Given the description of an element on the screen output the (x, y) to click on. 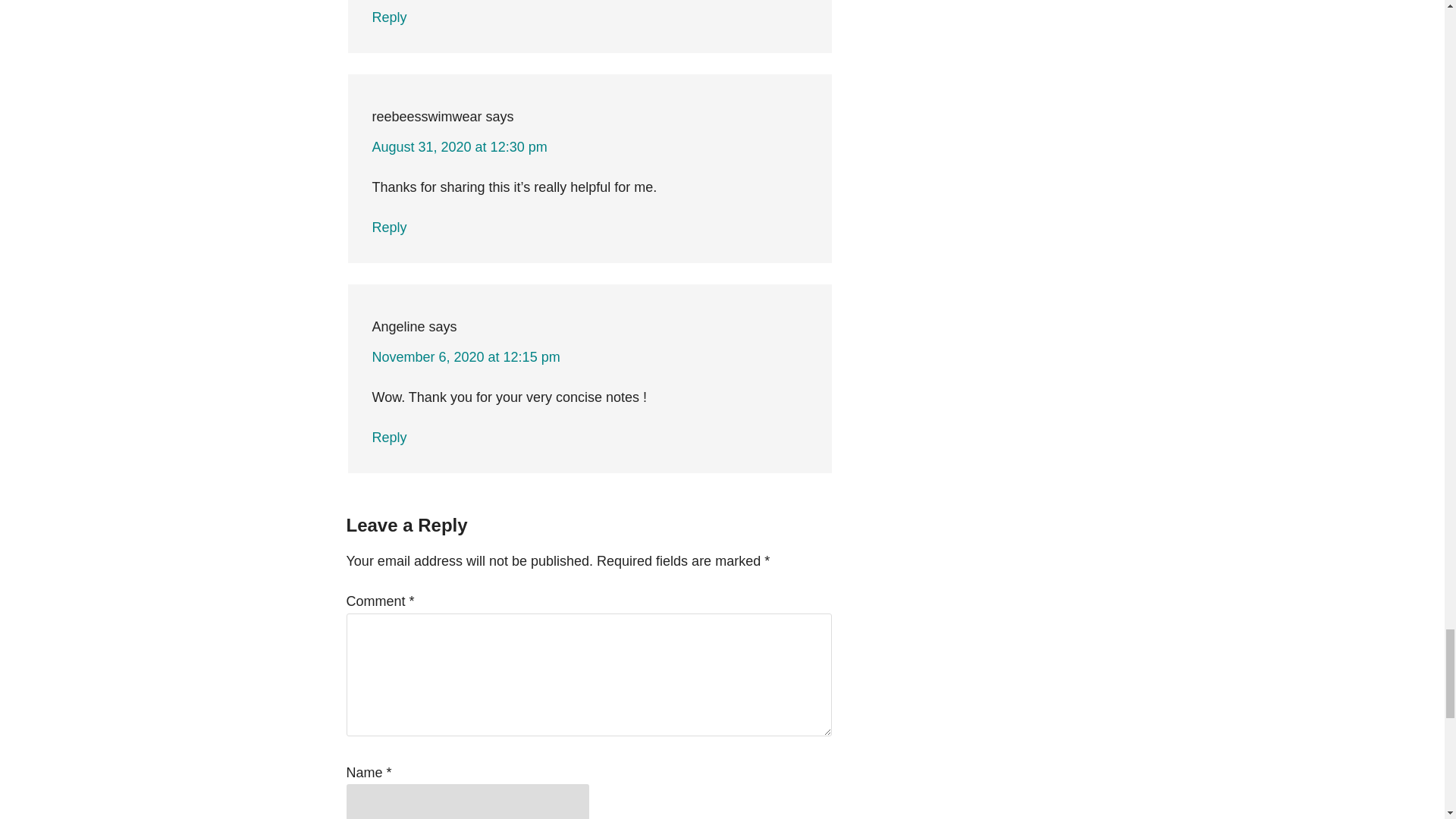
Reply (388, 17)
Reply (388, 437)
November 6, 2020 at 12:15 pm (465, 356)
August 31, 2020 at 12:30 pm (459, 146)
Reply (388, 227)
